Given the description of an element on the screen output the (x, y) to click on. 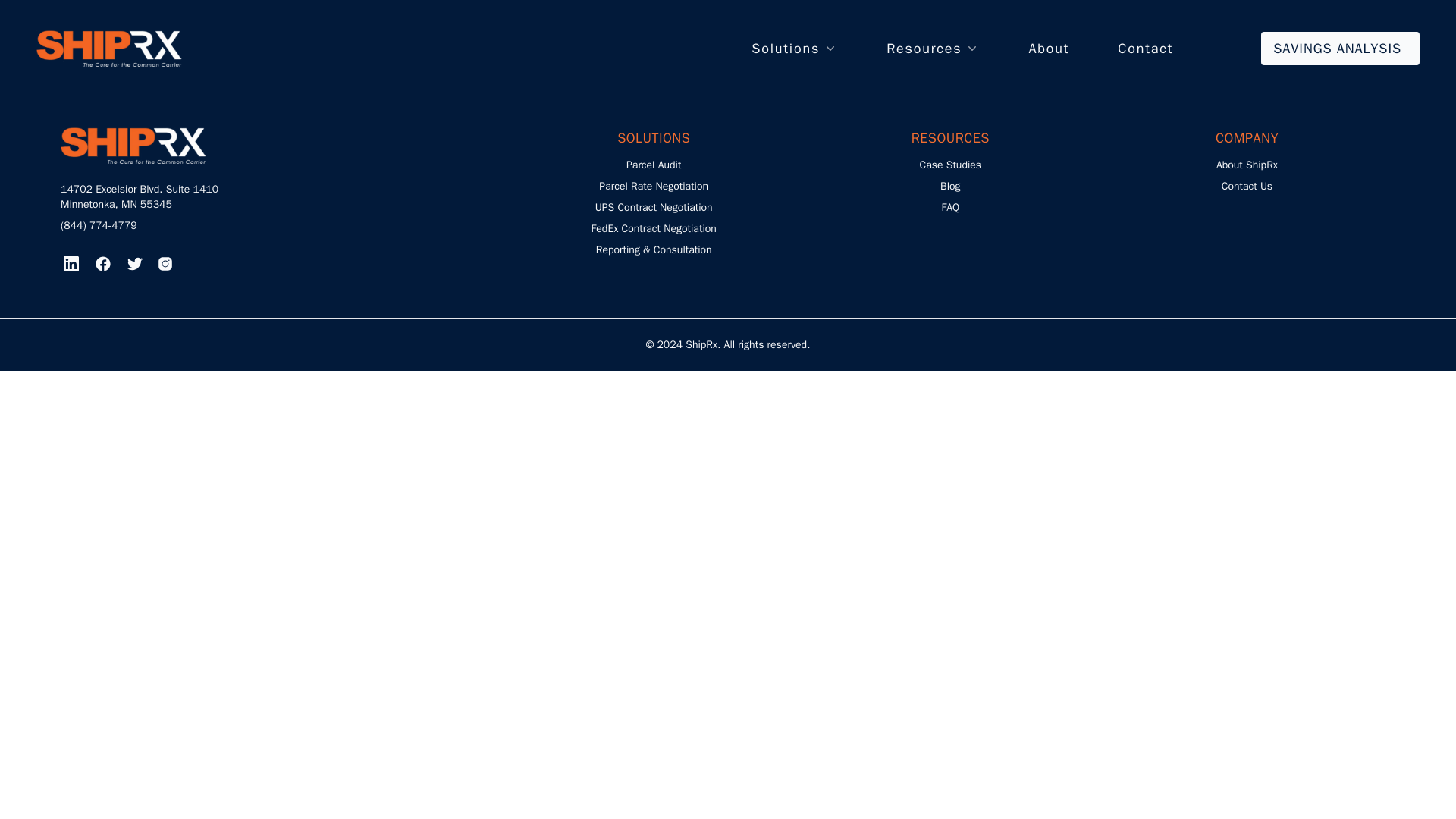
About (1047, 48)
SAVINGS ANALYSIS (1339, 48)
Solutions (794, 47)
Parcel Audit (653, 164)
Resources (932, 47)
Contact (1145, 48)
Blog (950, 185)
Facebook (102, 263)
Parcel Rate Negotiation (652, 185)
FedEx Contract Negotiation (653, 228)
